Given the description of an element on the screen output the (x, y) to click on. 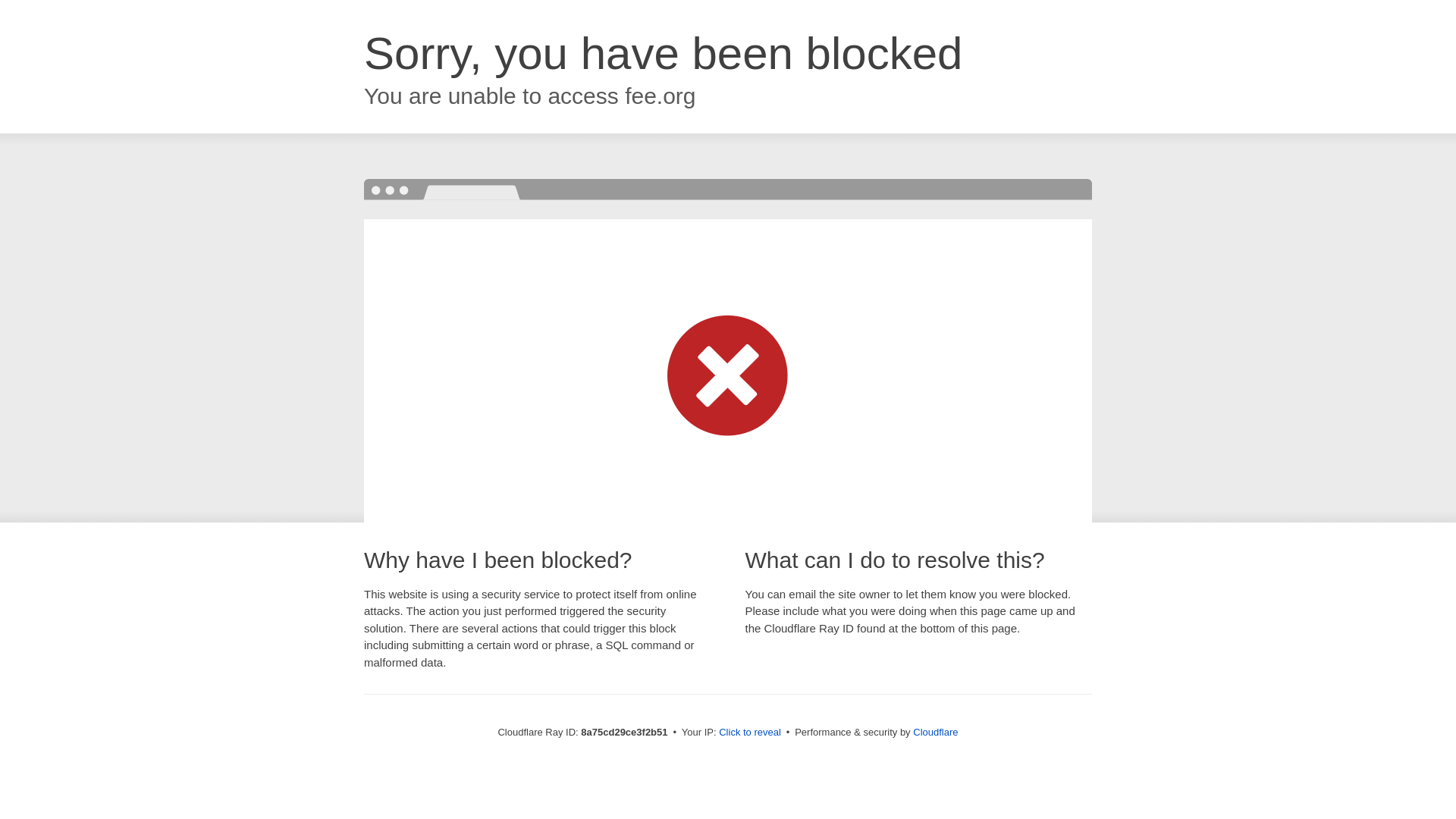
Click to reveal (749, 732)
Cloudflare (935, 731)
